Given the description of an element on the screen output the (x, y) to click on. 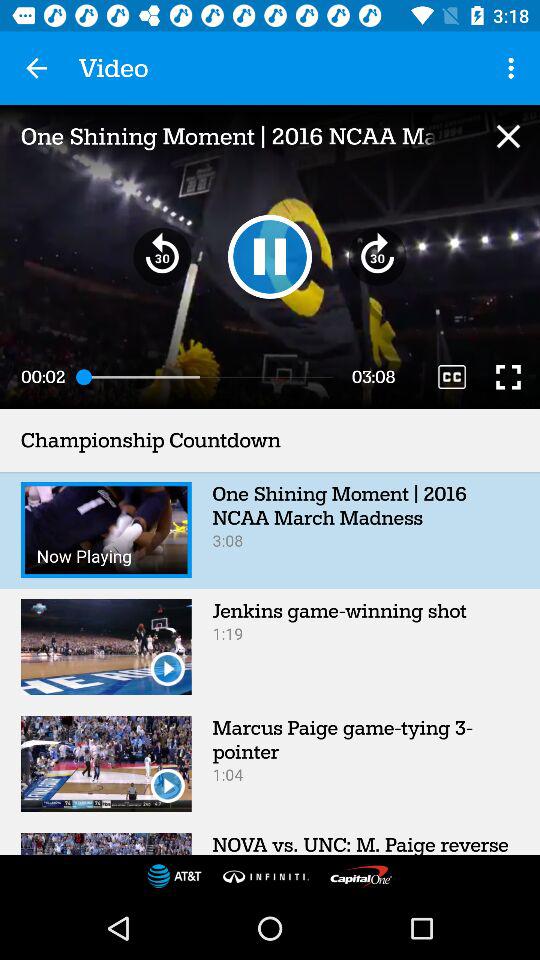
turn off item to the right of the one shining moment icon (508, 136)
